Given the description of an element on the screen output the (x, y) to click on. 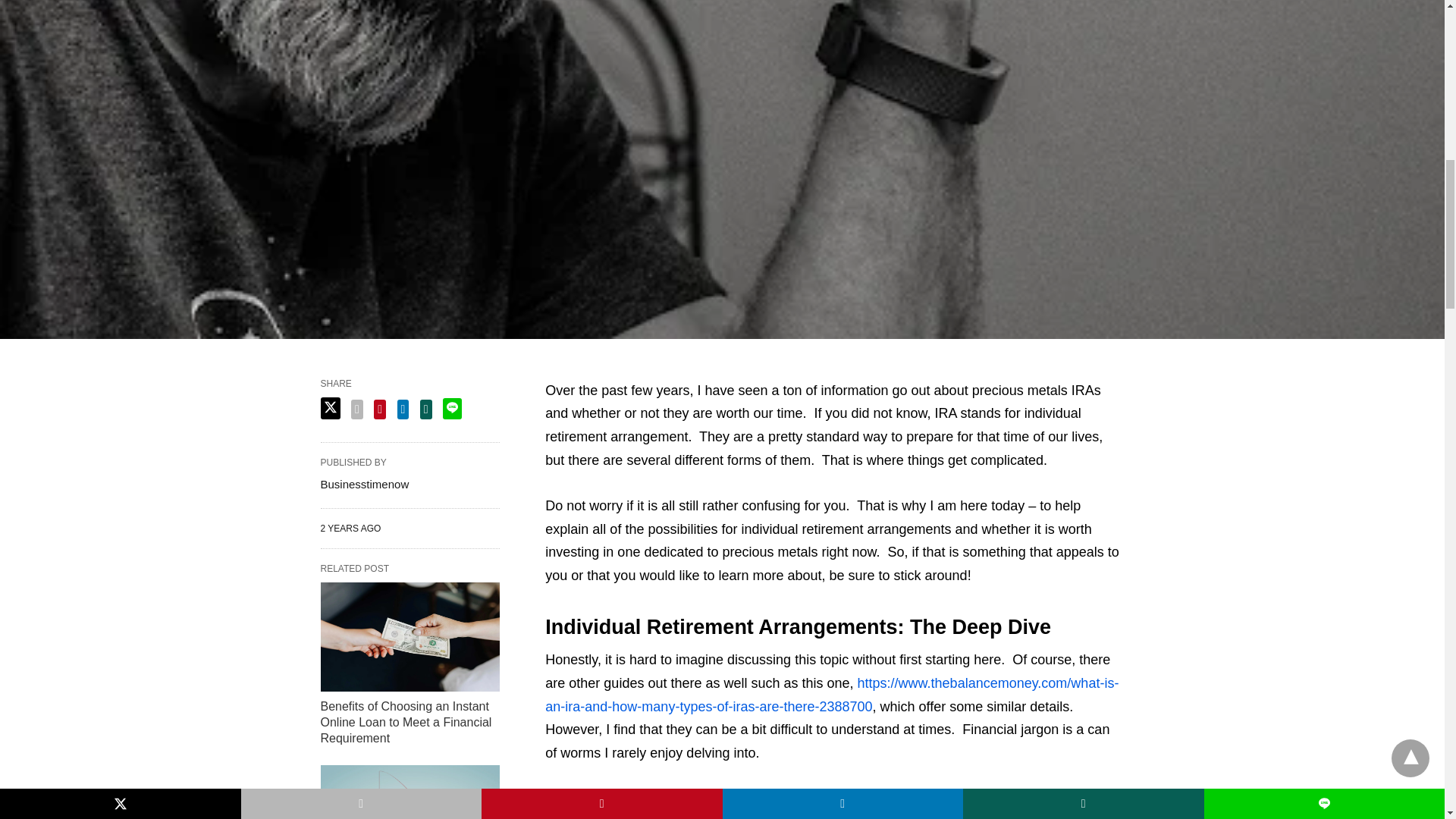
line share (451, 408)
